Given the description of an element on the screen output the (x, y) to click on. 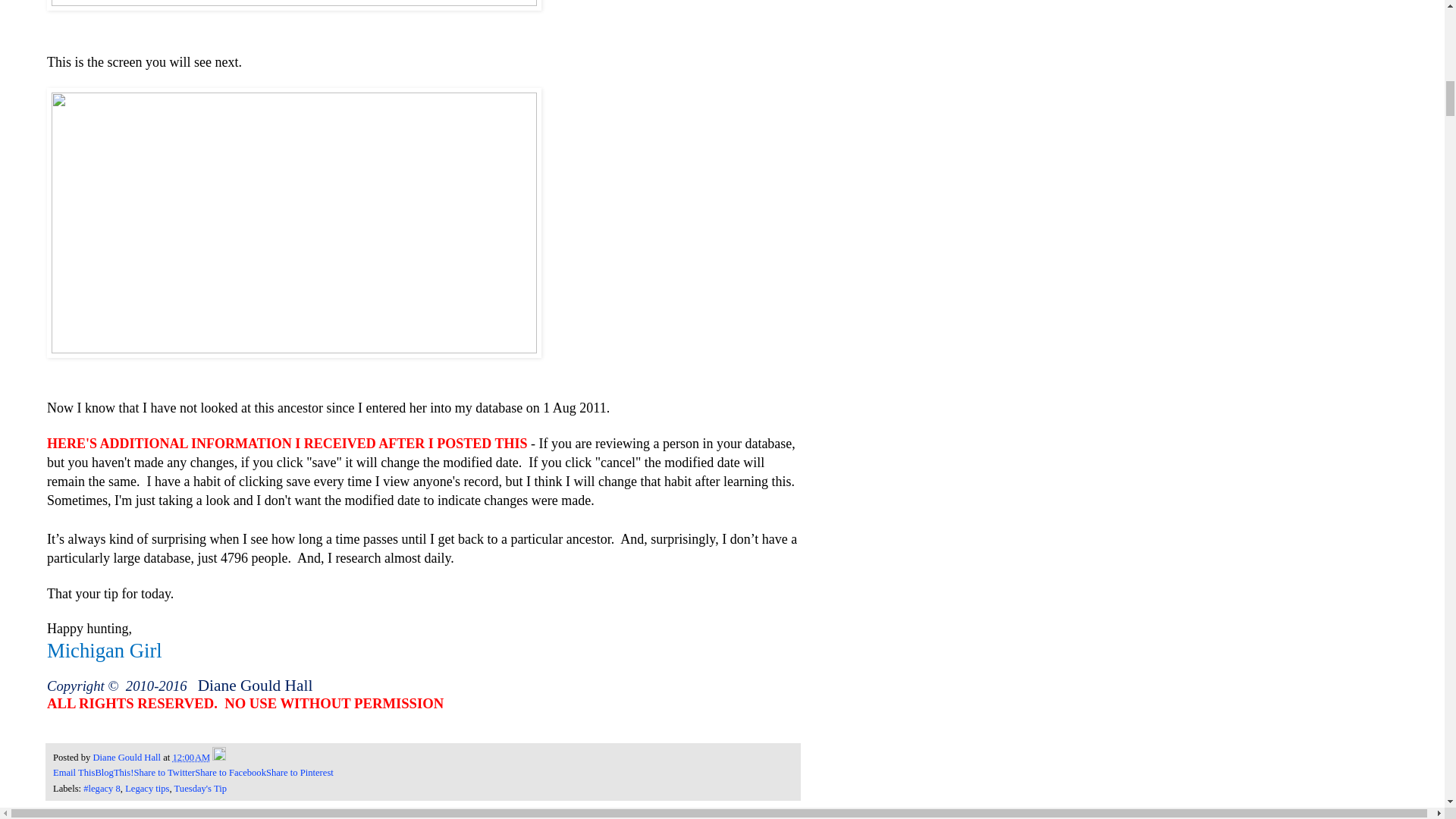
Share to Facebook (230, 772)
Share to Pinterest (299, 772)
Email This (73, 772)
BlogThis! (113, 772)
BlogThis! (113, 772)
Legacy tips (146, 787)
Email This (73, 772)
Share to Twitter (164, 772)
Share to Pinterest (299, 772)
Tuesday's Tip (200, 787)
Share to Twitter (164, 772)
Diane Gould Hall (128, 757)
permanent link (190, 757)
author profile (128, 757)
